Given the description of an element on the screen output the (x, y) to click on. 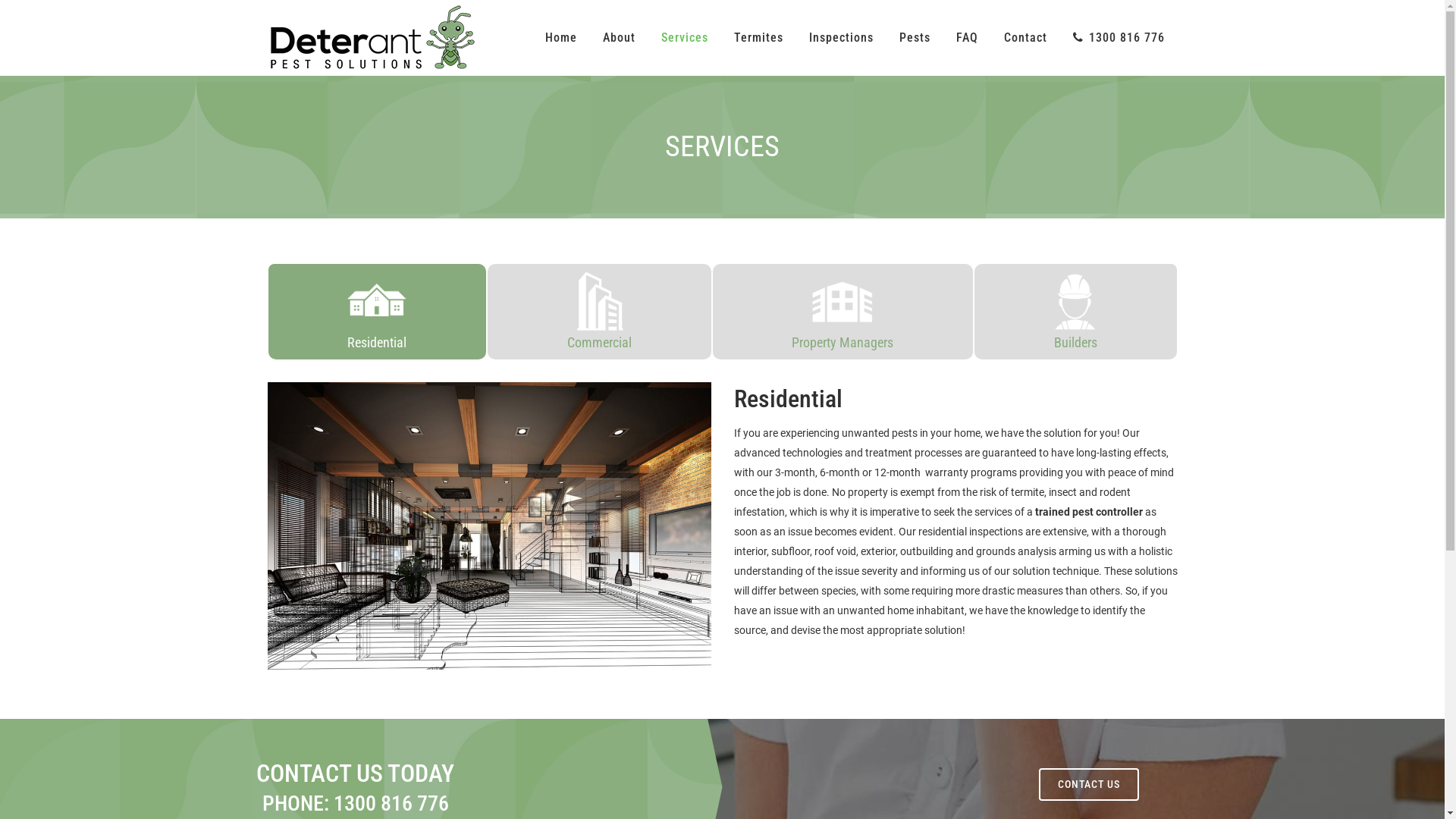
Commercial Element type: text (599, 311)
Pest Control Companies Adelaide Element type: hover (488, 525)
Inspections Element type: text (841, 37)
Property Managers Element type: text (842, 311)
Residential Element type: text (377, 311)
About Element type: text (618, 37)
Services Element type: text (683, 37)
Termites Element type: text (757, 37)
1300 816 776 Element type: text (1118, 37)
Contact Element type: text (1024, 37)
CONTACT US Element type: text (1088, 784)
Builders Element type: text (1075, 311)
1300 816 776 Element type: text (390, 802)
FAQ Element type: text (967, 37)
Pests Element type: text (913, 37)
Home Element type: text (560, 37)
